Given the description of an element on the screen output the (x, y) to click on. 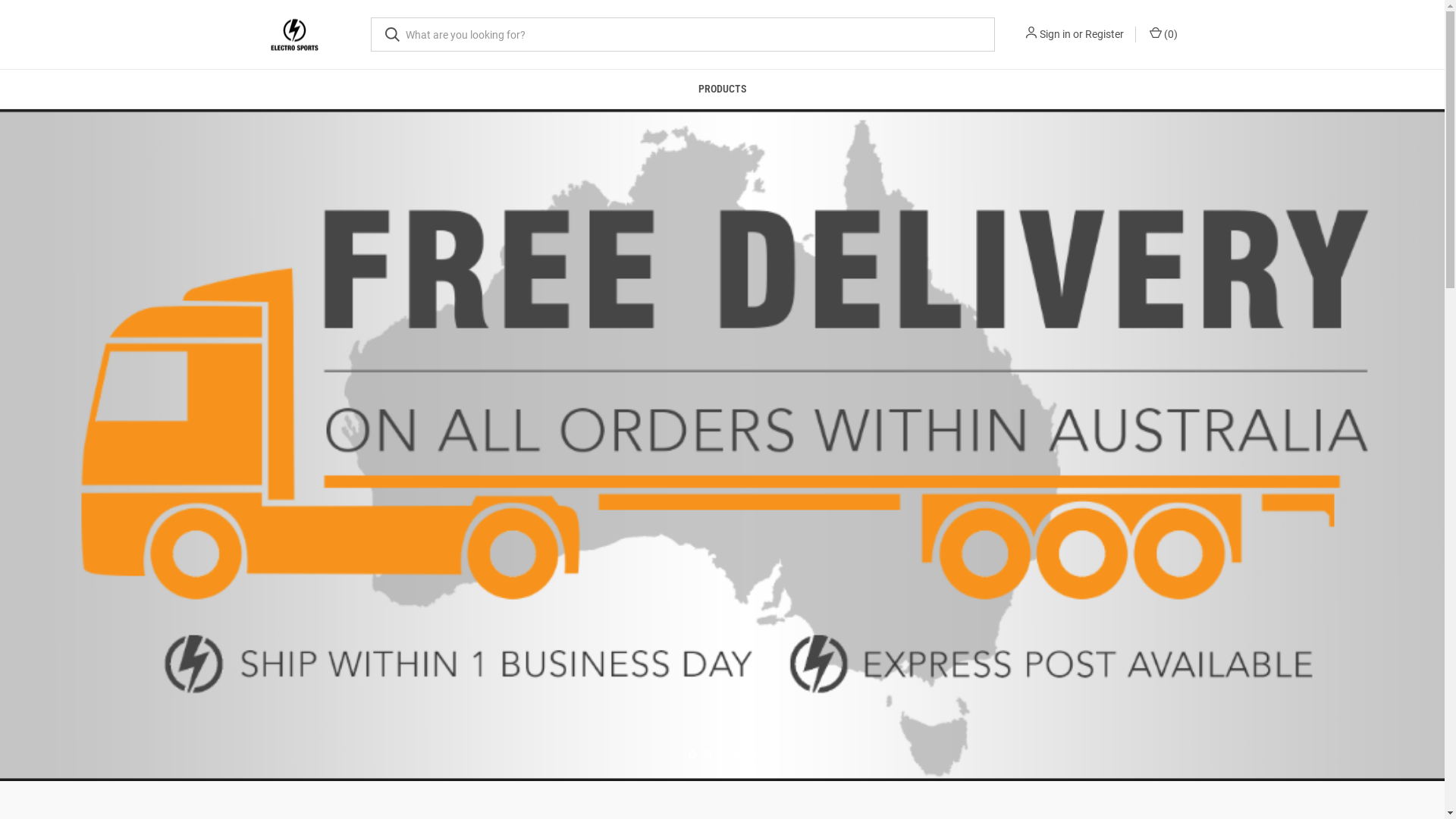
Electro Sports Element type: hover (294, 34)
Register Element type: text (1103, 34)
Sign in Element type: text (1054, 34)
(0) Element type: text (1161, 34)
PRODUCTS Element type: text (722, 88)
